Given the description of an element on the screen output the (x, y) to click on. 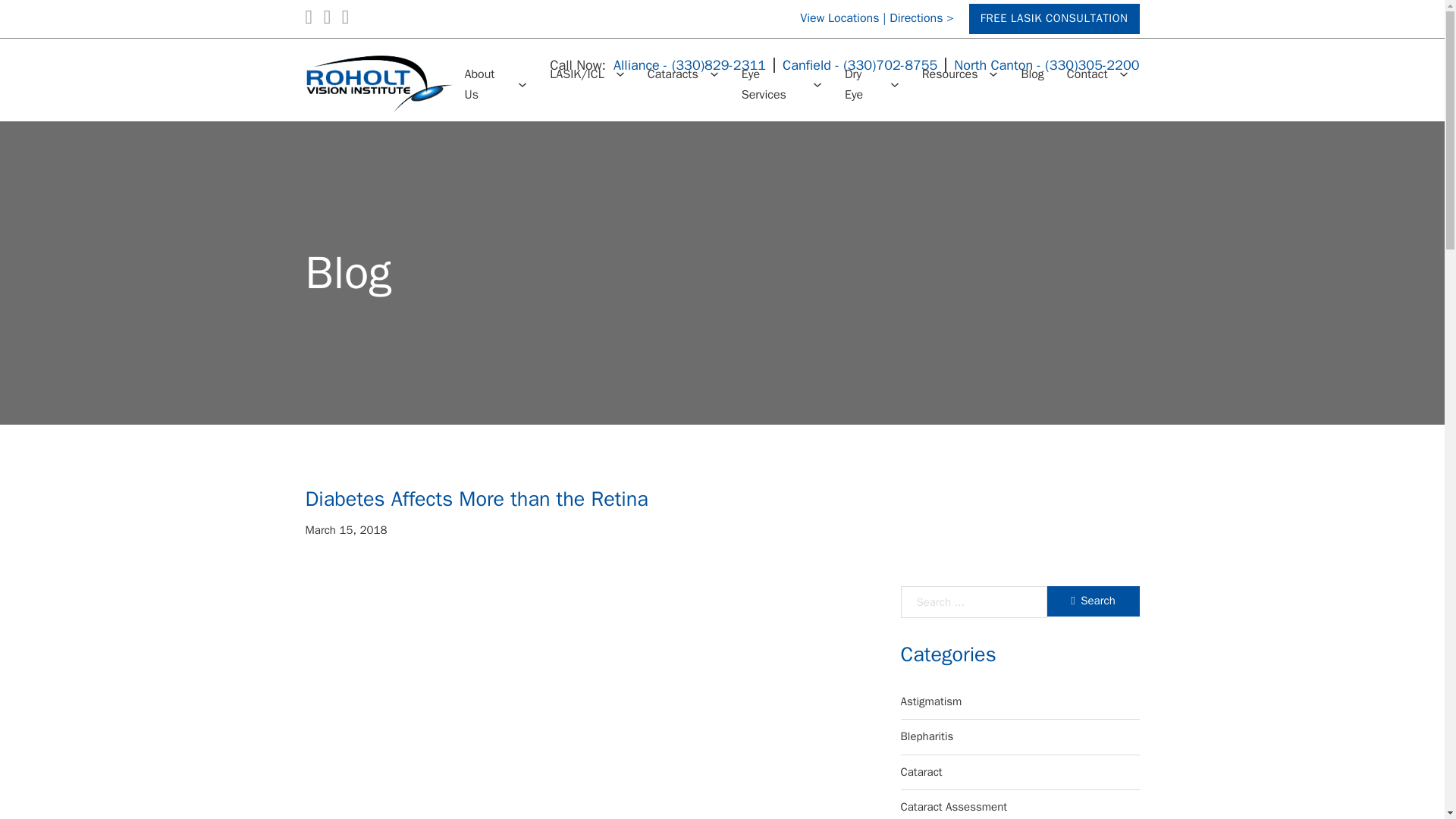
About Us (485, 84)
Dry Eye (860, 84)
FREE LASIK CONSULTATION (1054, 19)
Eye Services (771, 84)
Cataracts (673, 74)
